Given the description of an element on the screen output the (x, y) to click on. 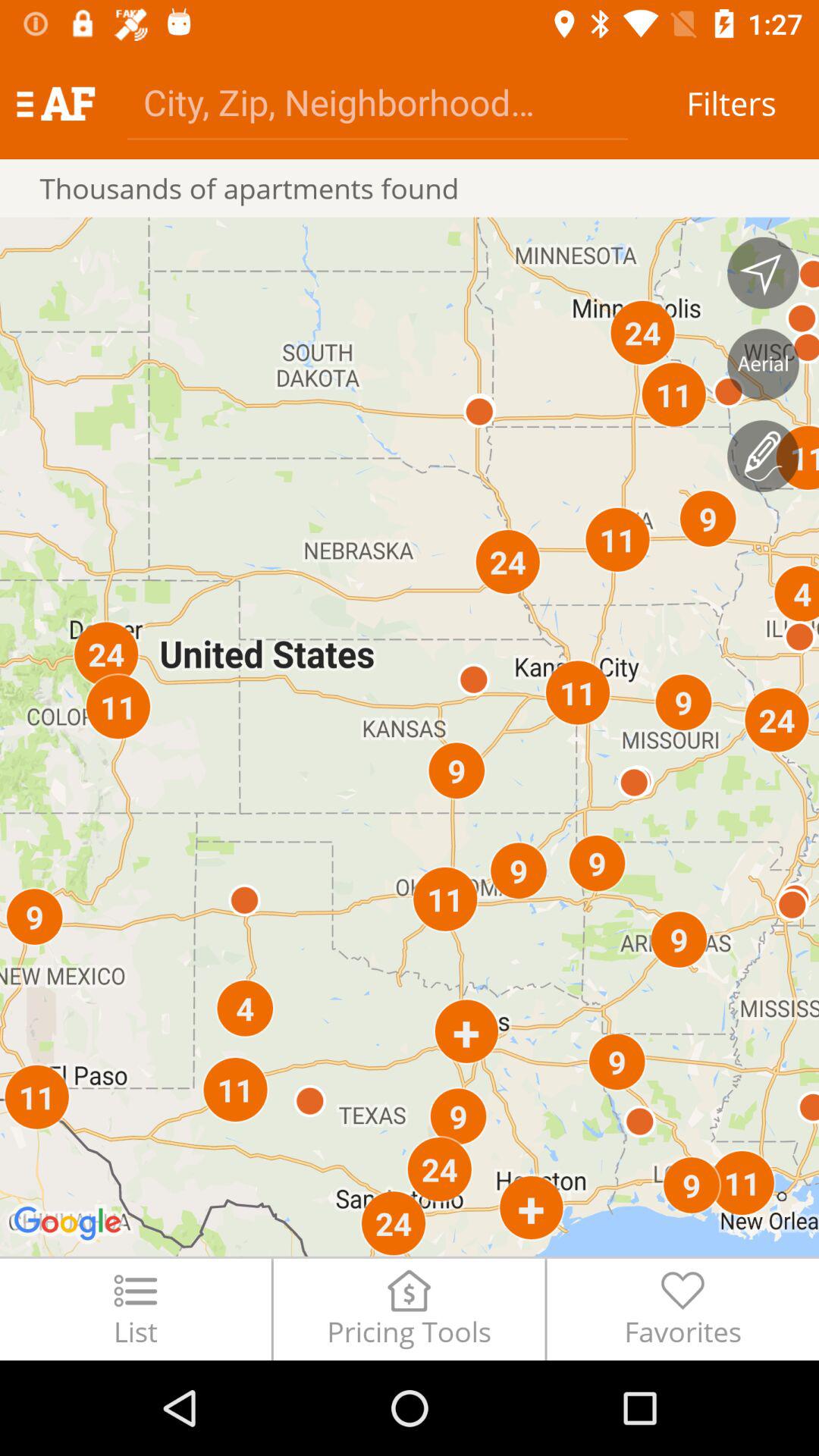
navigate to right (763, 272)
